Given the description of an element on the screen output the (x, y) to click on. 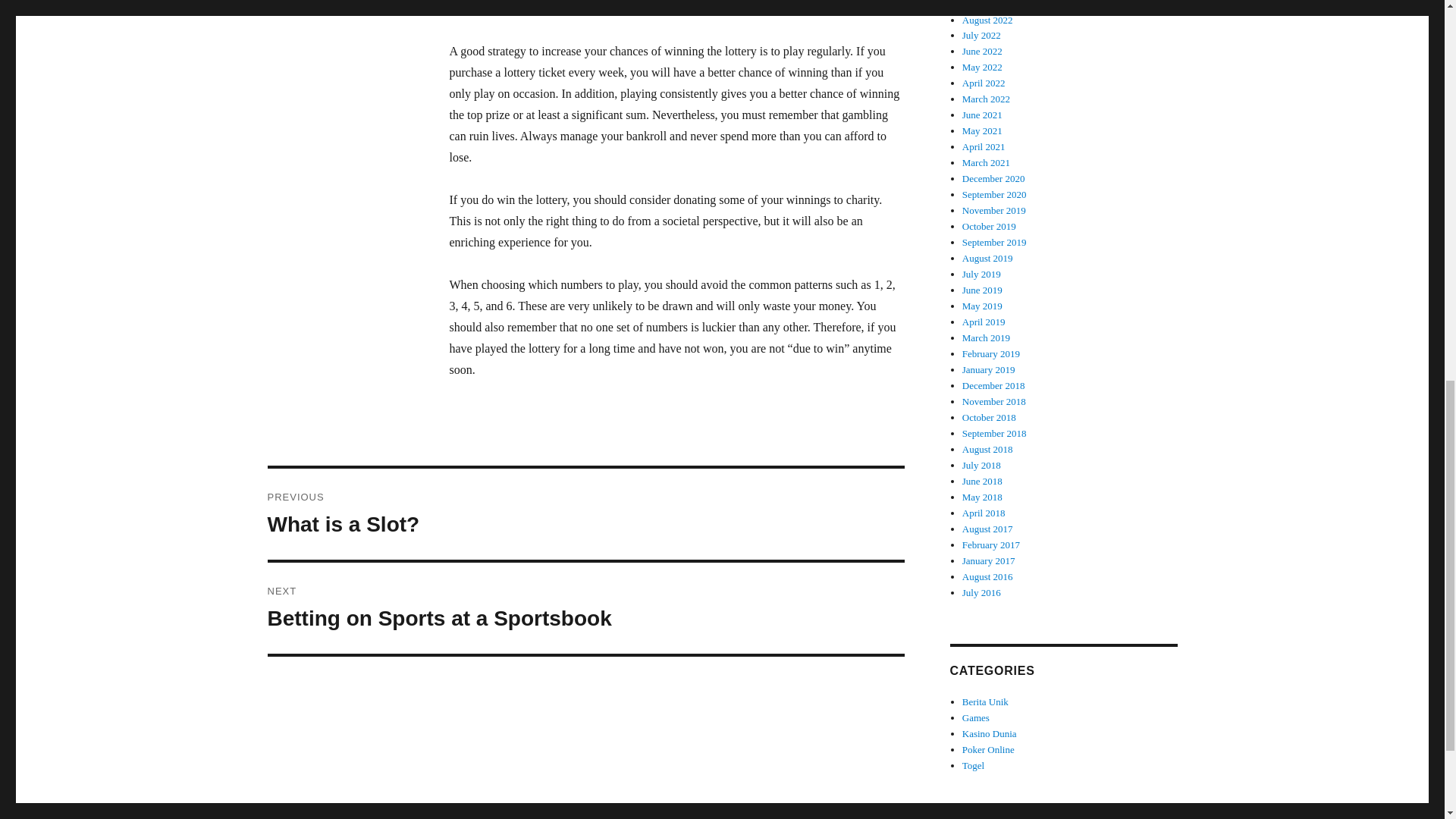
Games (976, 717)
Berita Unik (985, 701)
September 2022 (585, 513)
